Given the description of an element on the screen output the (x, y) to click on. 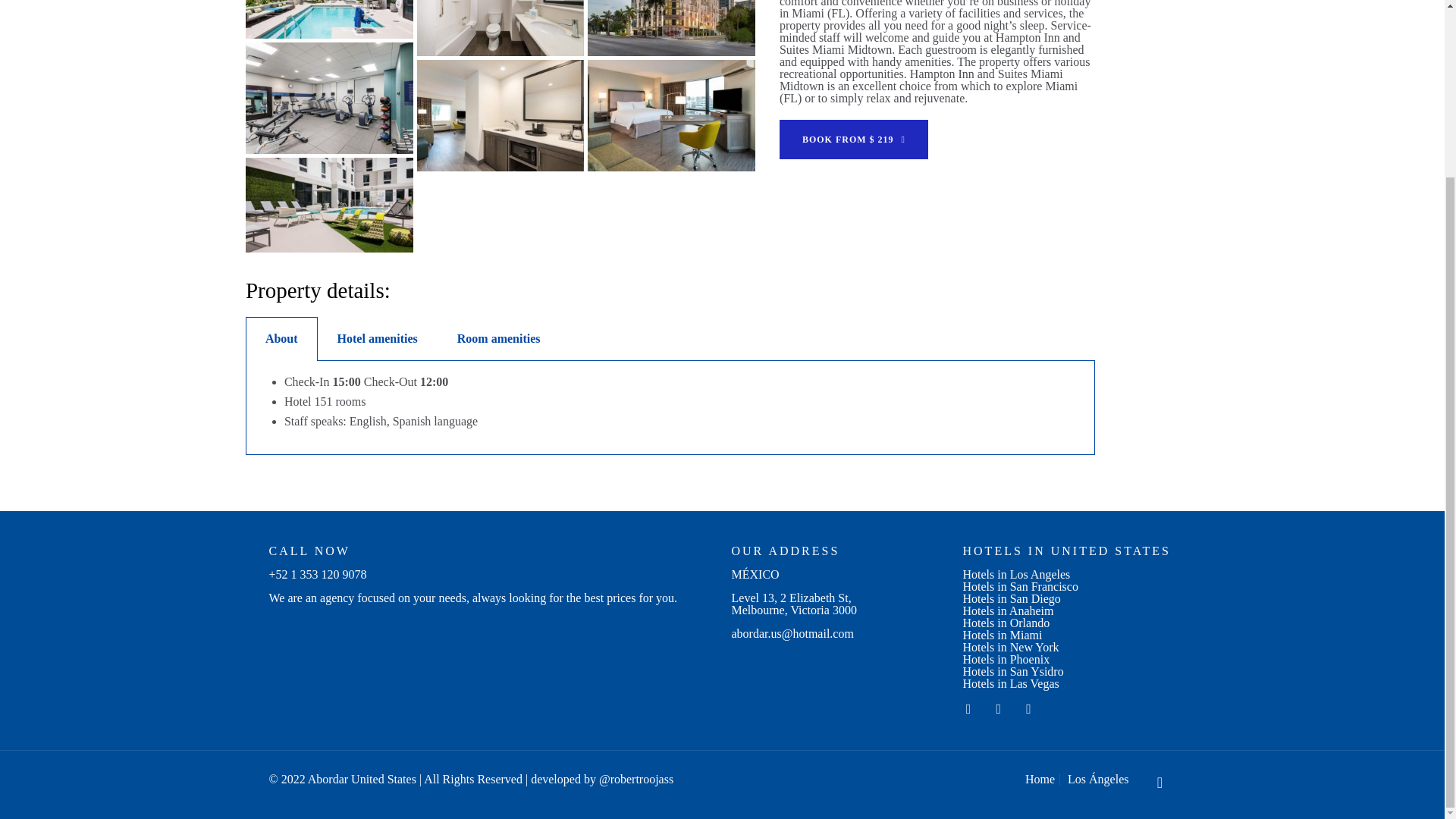
Hotels in Anaheim (1008, 610)
Hotels in Phoenix (1005, 658)
Hotels in Orlando (1005, 622)
Hotels in New York (1010, 646)
Hotels in San Diego (1011, 598)
Hotels in Miami (1002, 634)
Hotels in San Ysidro (1013, 671)
Home (1039, 779)
Hotels in Las Vegas (1010, 683)
Hotels in Los Angeles (1016, 574)
Hotels in San Francisco (1020, 585)
